Given the description of an element on the screen output the (x, y) to click on. 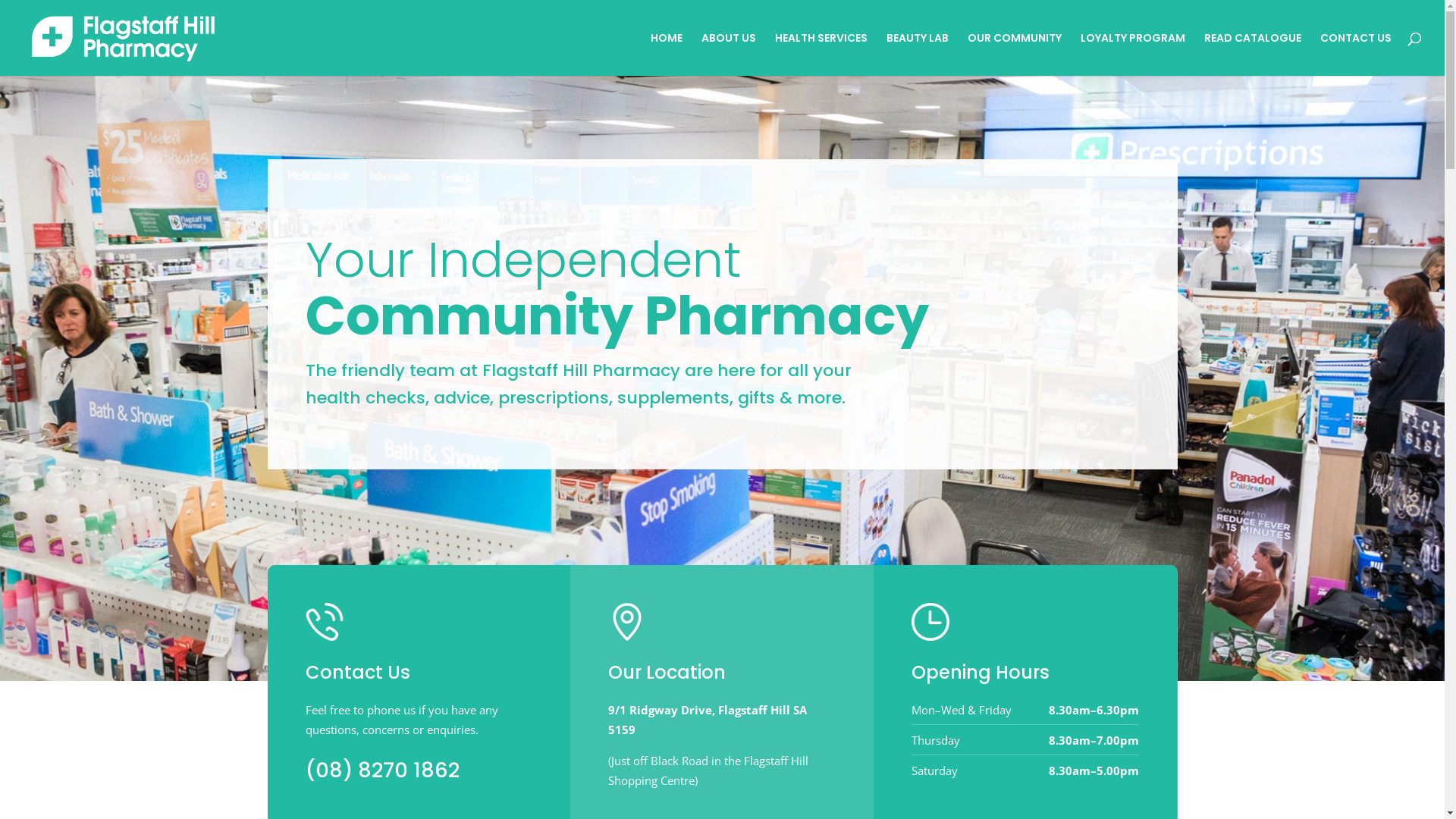
CONTACT US Element type: text (1355, 53)
ABOUT US Element type: text (728, 53)
BEAUTY LAB Element type: text (917, 53)
HEALTH SERVICES Element type: text (821, 53)
READ CATALOGUE Element type: text (1252, 53)
OUR COMMUNITY Element type: text (1014, 53)
LOYALTY PROGRAM Element type: text (1132, 53)
HOME Element type: text (666, 53)
